Given the description of an element on the screen output the (x, y) to click on. 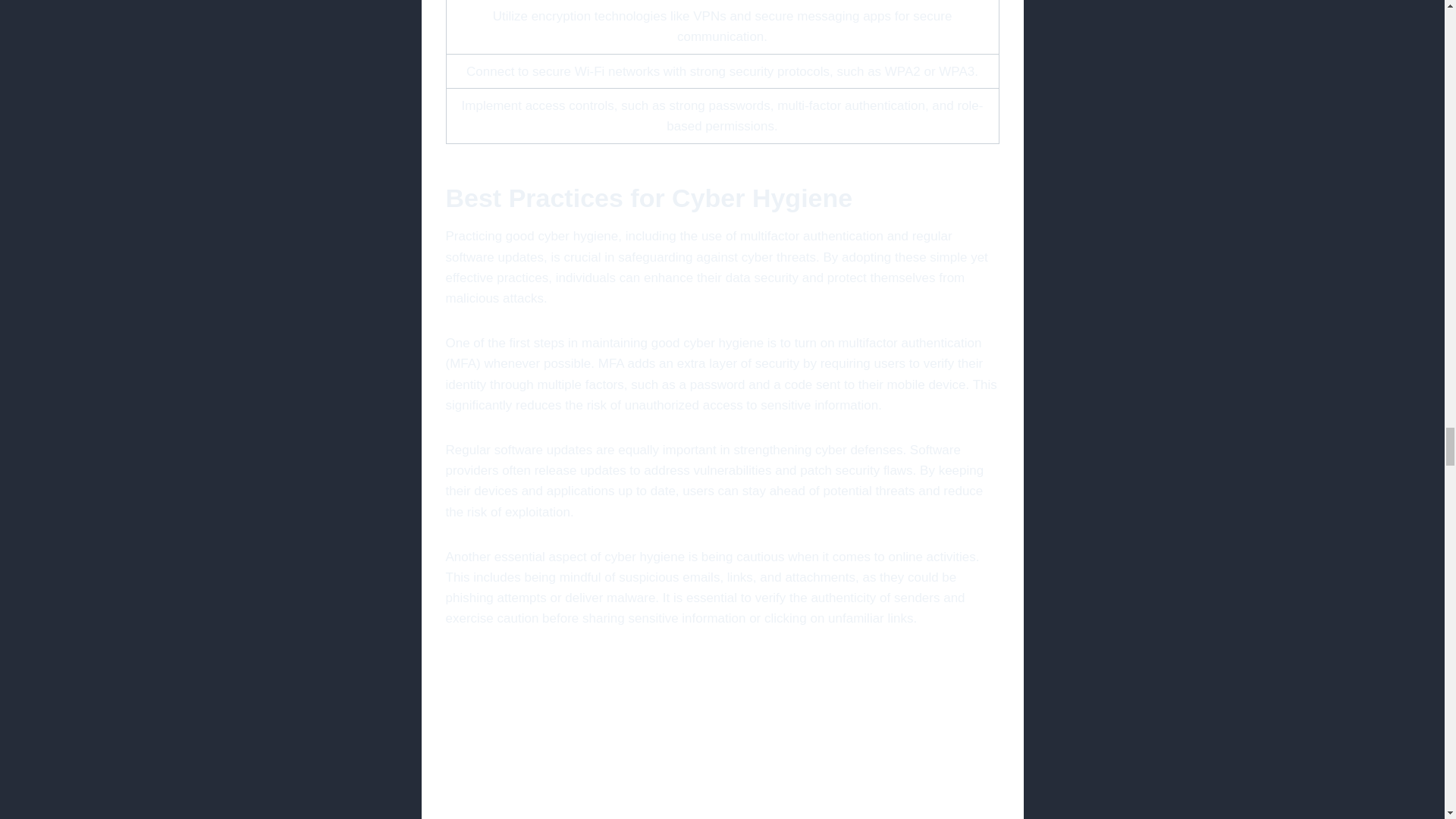
Cyber Hygiene (721, 735)
